Given the description of an element on the screen output the (x, y) to click on. 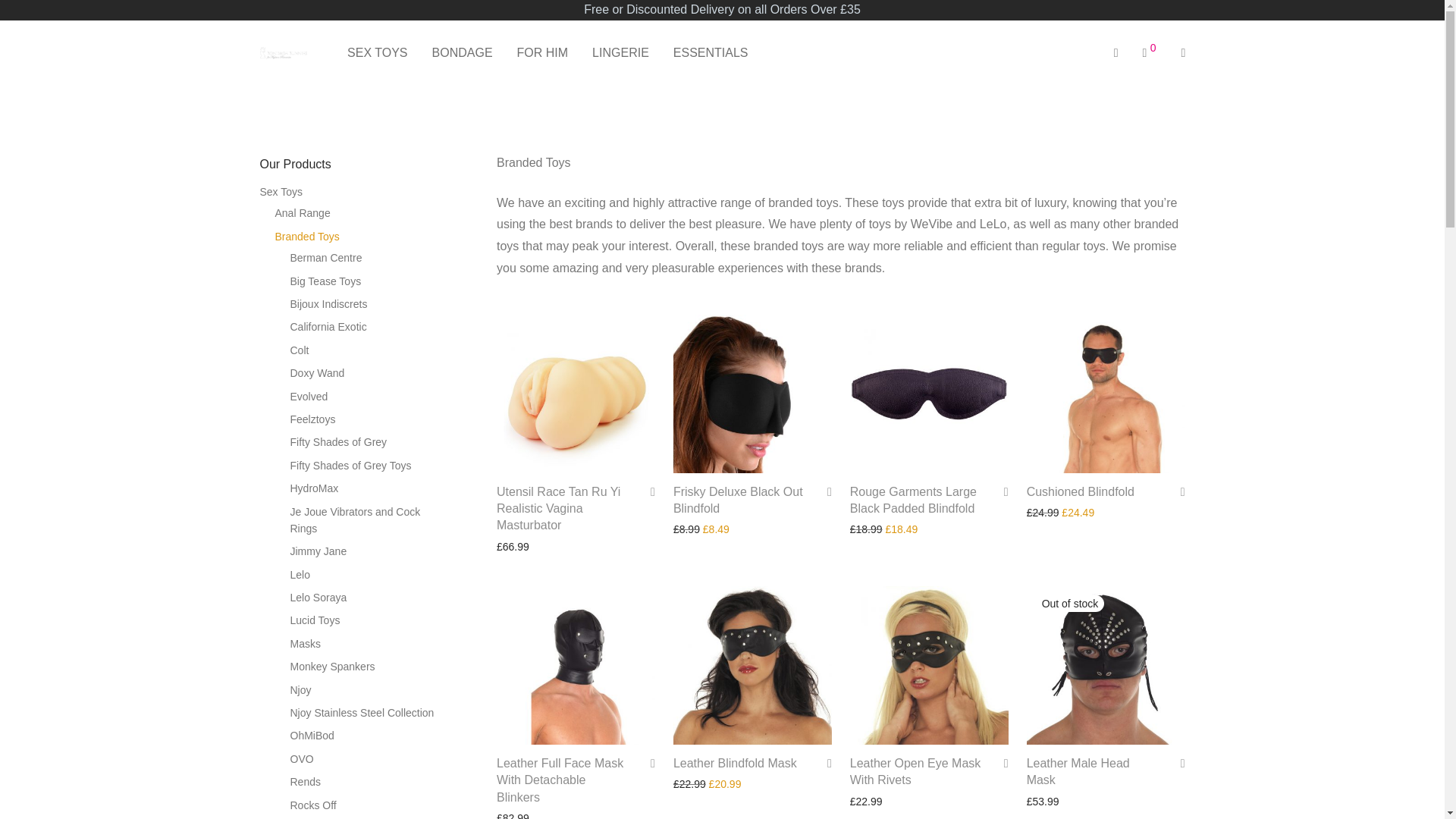
BONDAGE (462, 53)
Add to Wishlist (823, 491)
Add to Wishlist (1177, 491)
Add to Wishlist (647, 762)
Add to Wishlist (647, 491)
SEX TOYS (376, 53)
Add to Wishlist (1001, 491)
Add to Wishlist (1177, 762)
Add to Wishlist (823, 762)
Add to Wishlist (1001, 762)
